Given the description of an element on the screen output the (x, y) to click on. 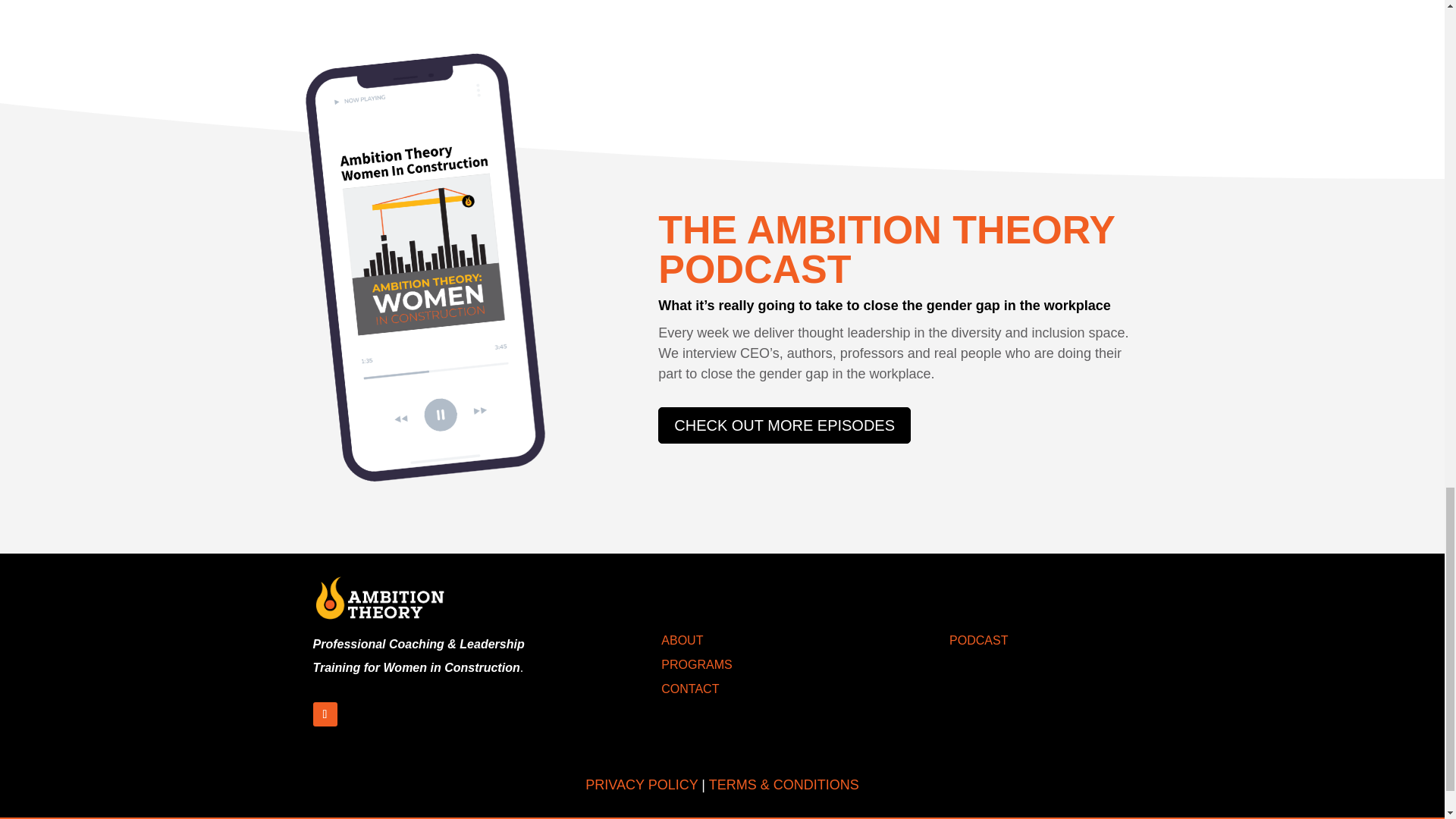
Follow on LinkedIn (324, 713)
AmbitionTheory-Logo-Colour-Horizontal-WhiteText-01 (379, 598)
